Given the description of an element on the screen output the (x, y) to click on. 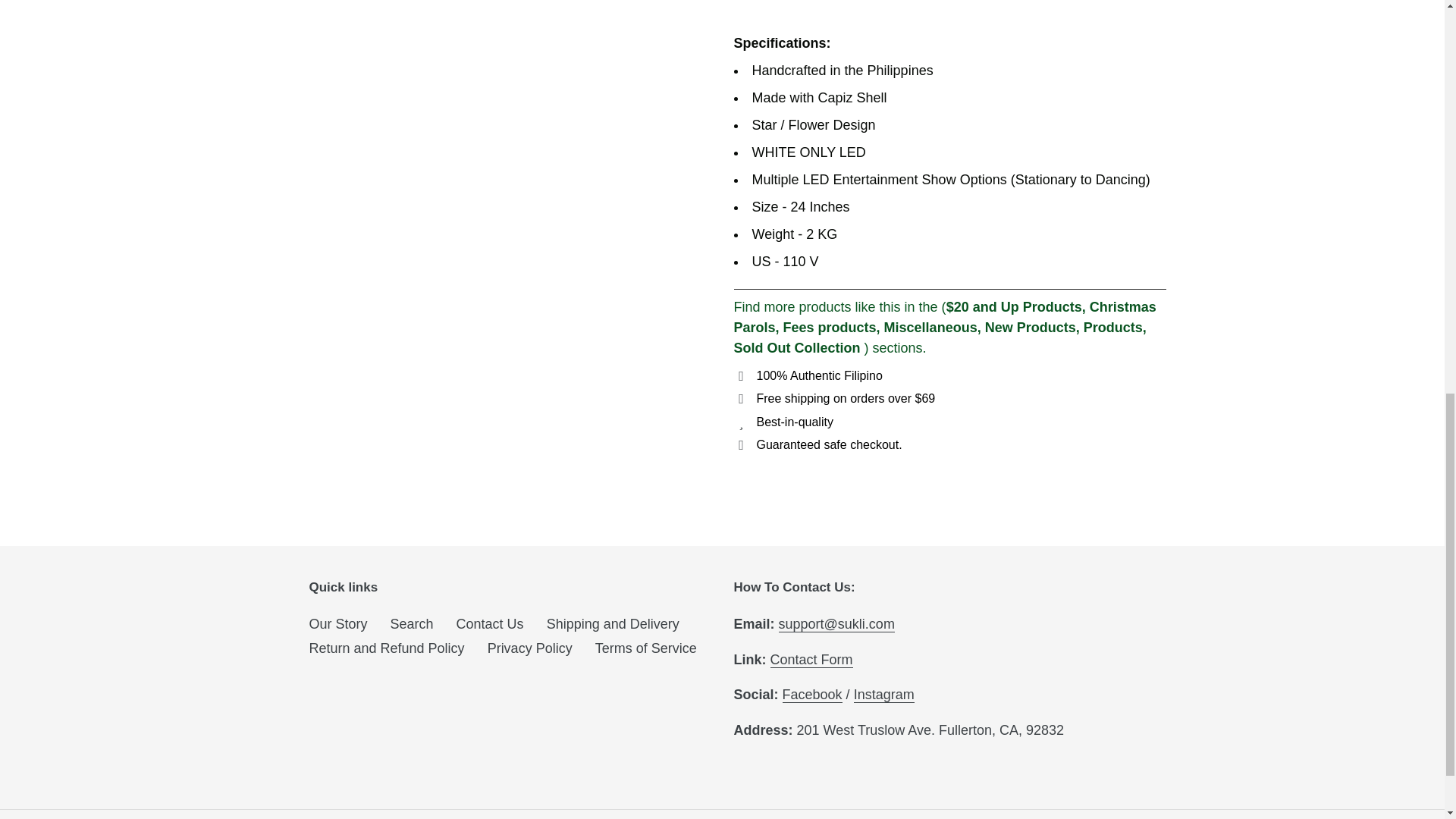
Products (1112, 327)
Sukli Facebook (813, 694)
Christmas Parols (944, 316)
Sukli Contact Form (811, 659)
Fees products (829, 327)
Sukli Instagram (883, 694)
Our Story (338, 623)
Sold Out Collection (796, 347)
YouTube video player (852, 10)
New Products (1030, 327)
Miscellaneous (929, 327)
Search (411, 623)
